Given the description of an element on the screen output the (x, y) to click on. 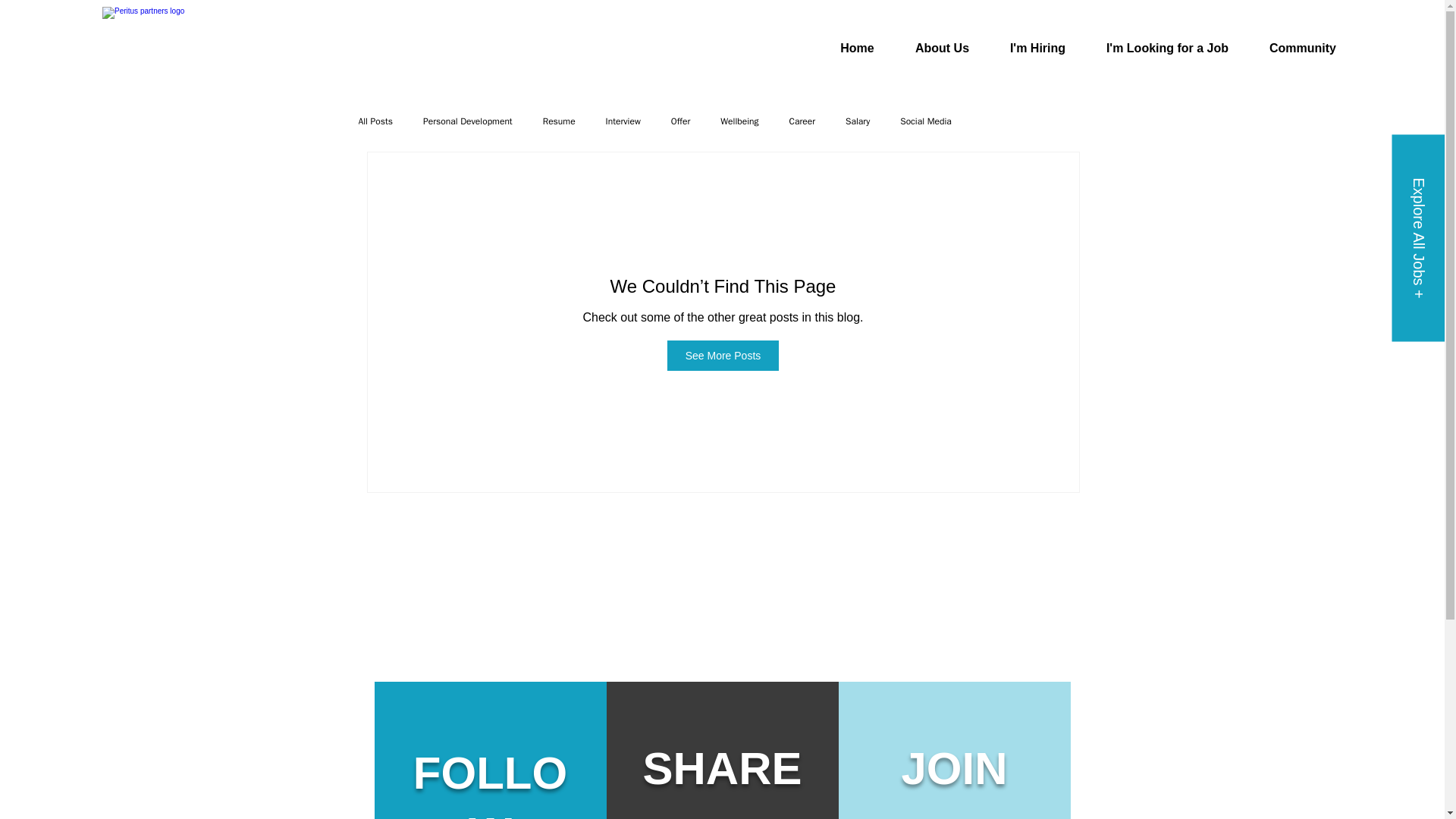
About Us (942, 48)
See More Posts (722, 355)
Interview (622, 121)
Career (802, 121)
I'm Looking for a Job (1167, 48)
Resume (559, 121)
Salary (857, 121)
Community (1302, 48)
Offer (680, 121)
All Posts (375, 121)
